Given the description of an element on the screen output the (x, y) to click on. 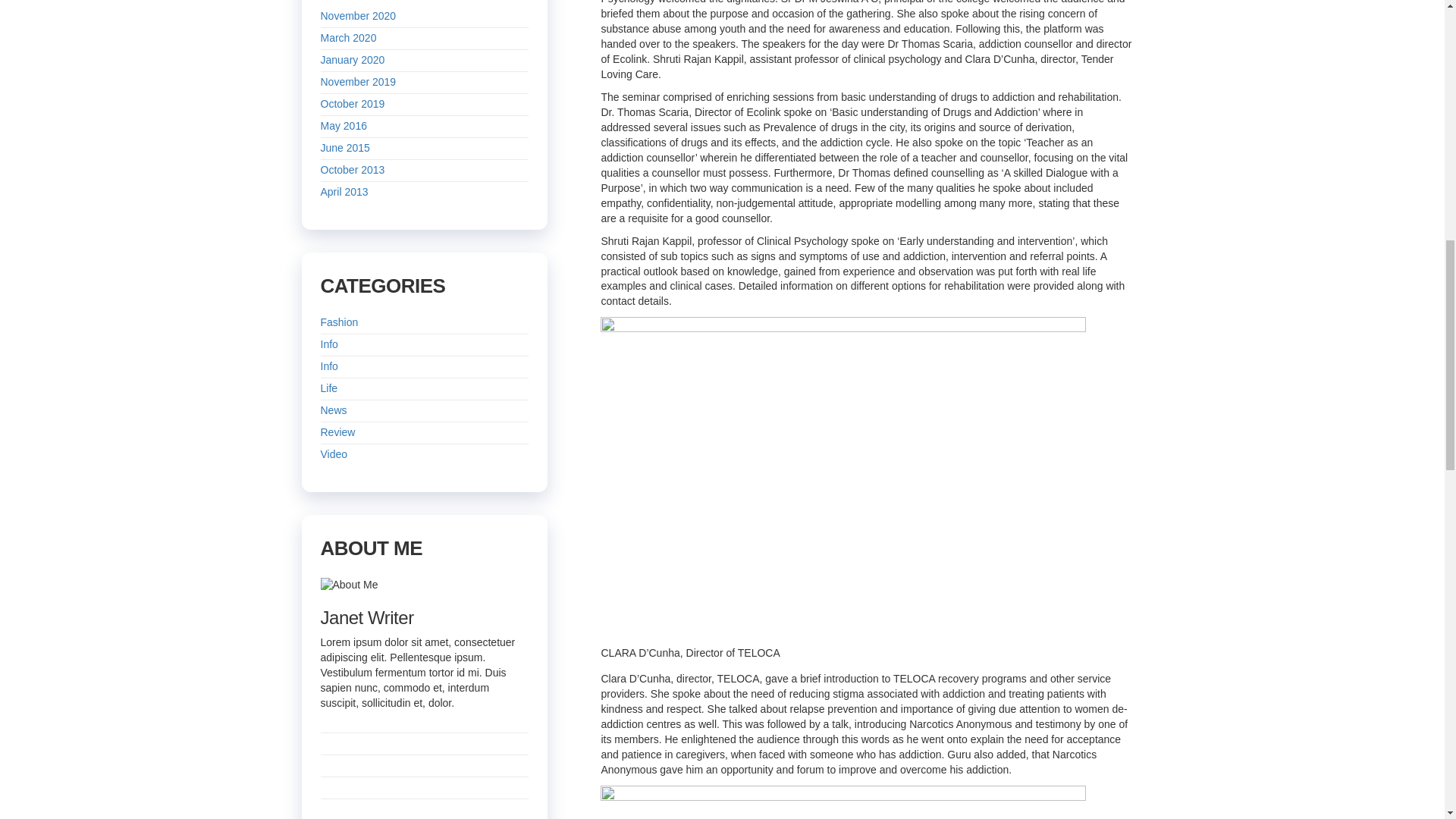
March 2020 (347, 37)
May 2016 (343, 125)
November 2019 (358, 81)
Fashion (339, 322)
Info (328, 344)
October 2019 (352, 103)
October 2013 (352, 169)
April 2013 (344, 191)
June 2015 (344, 147)
January 2020 (352, 60)
November 2020 (358, 15)
